Given the description of an element on the screen output the (x, y) to click on. 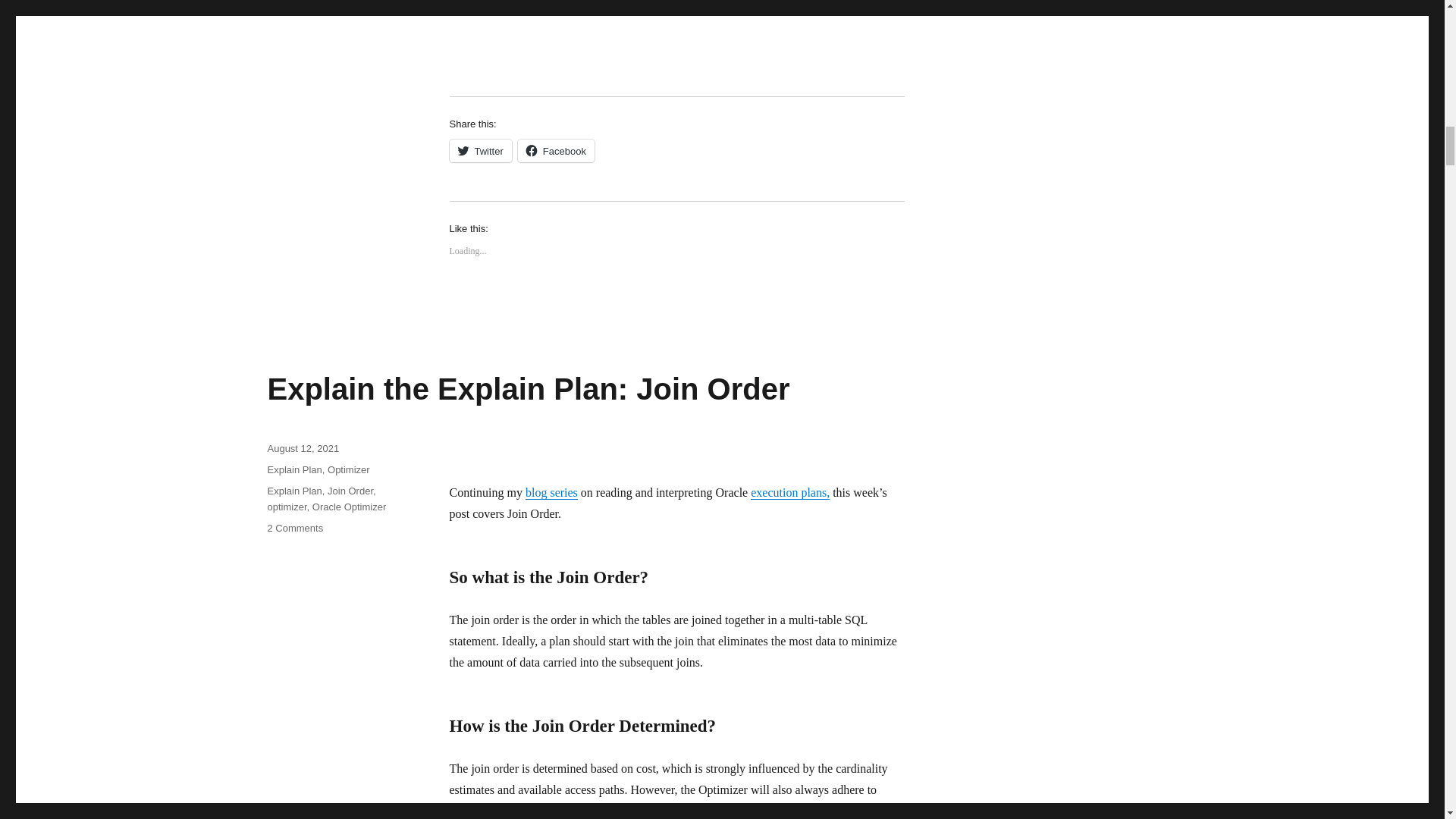
Explain the Explain Plan: Join Order (527, 388)
Click to share on Twitter (479, 150)
Click to share on Facebook (556, 150)
Facebook (556, 150)
Twitter (479, 150)
